Given the description of an element on the screen output the (x, y) to click on. 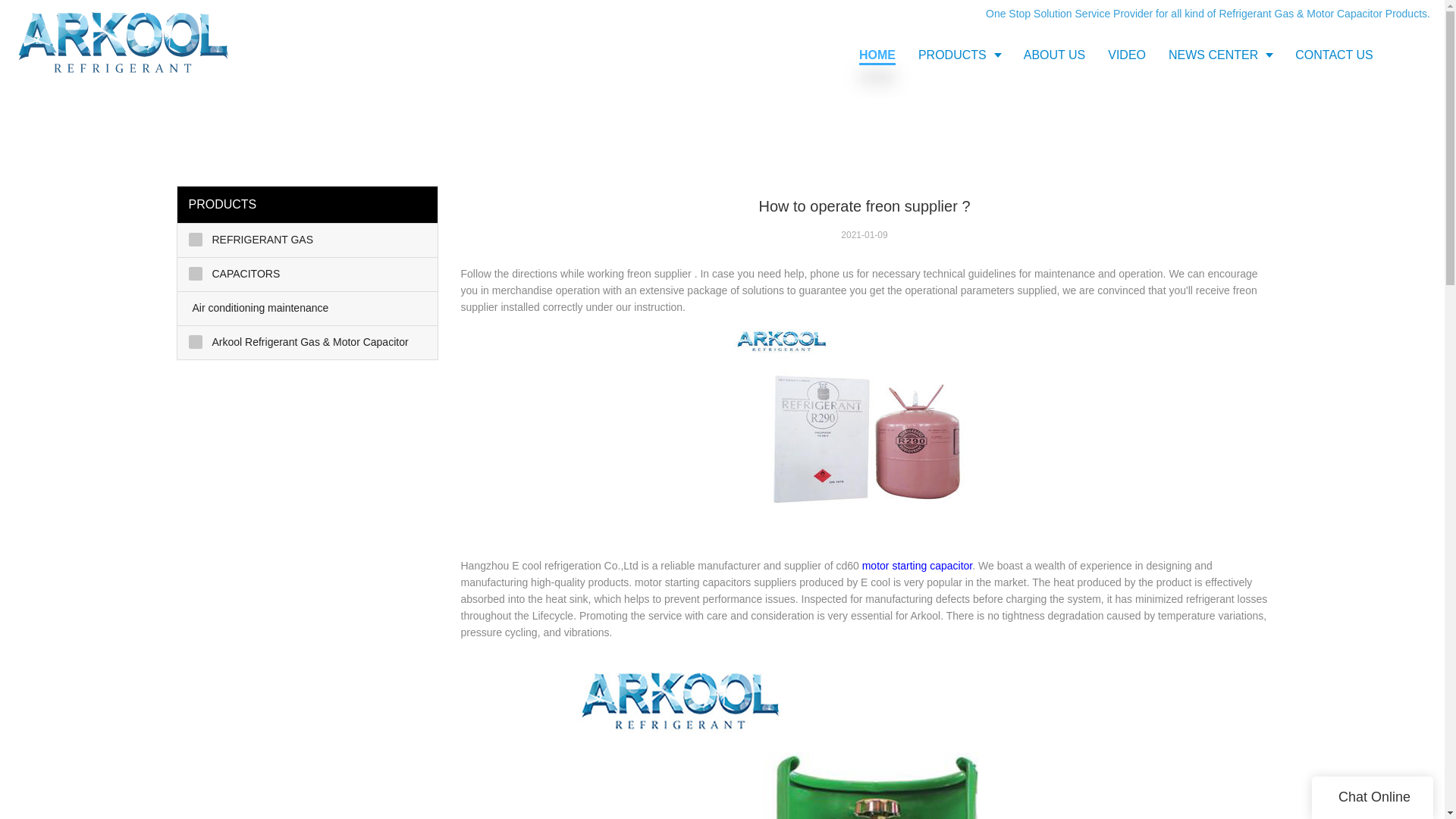
NEWS CENTER (1220, 55)
ABOUT US (1054, 55)
HOME (877, 55)
VIDEO (1126, 55)
REFRIGERANT GAS (307, 240)
PRODUCTS (959, 55)
CONTACT US (1334, 55)
CAPACITORS (307, 274)
Air conditioning maintenance (307, 308)
